Given the description of an element on the screen output the (x, y) to click on. 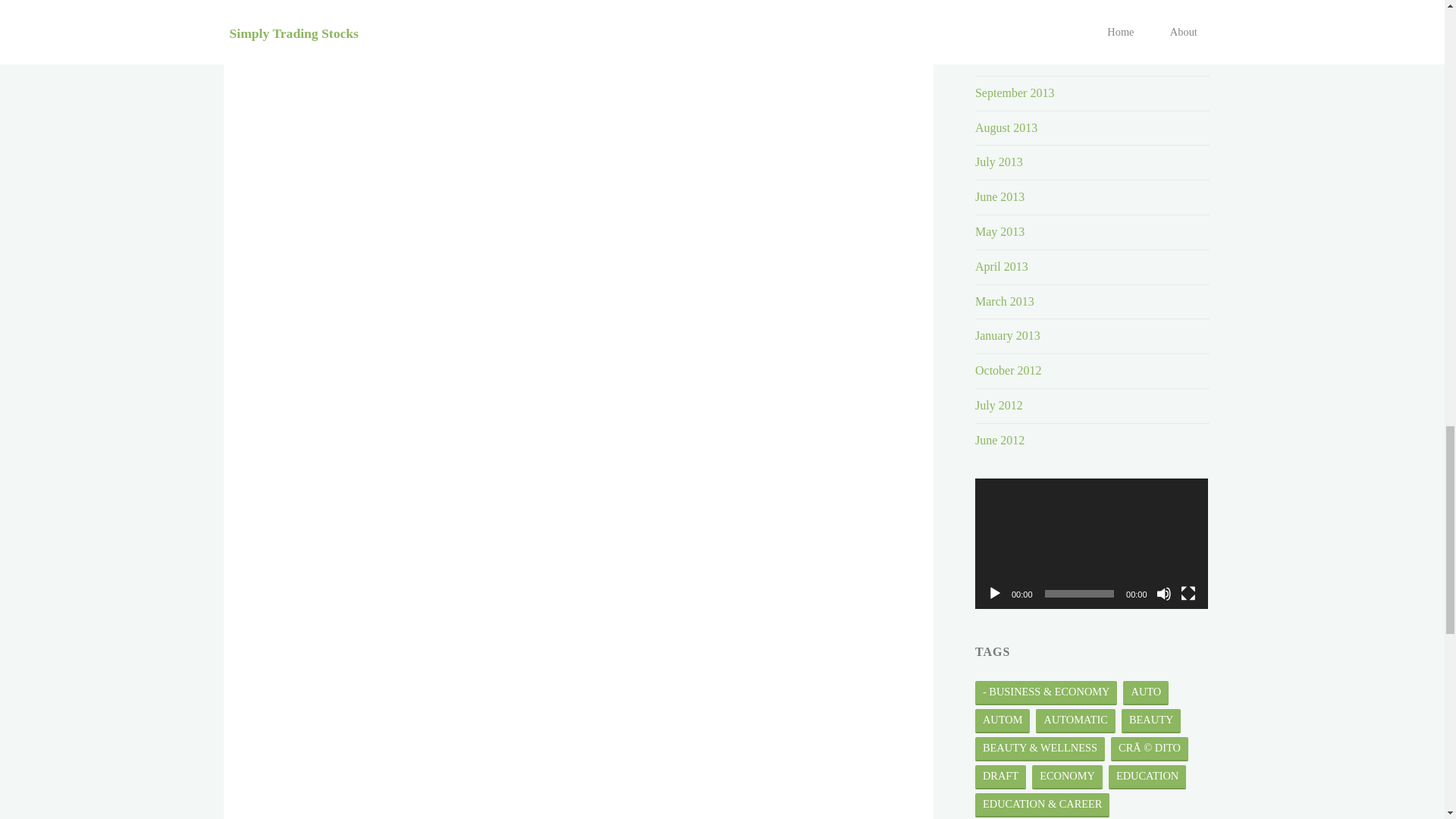
Fullscreen (1187, 593)
Mute (1164, 593)
Play (995, 593)
